Given the description of an element on the screen output the (x, y) to click on. 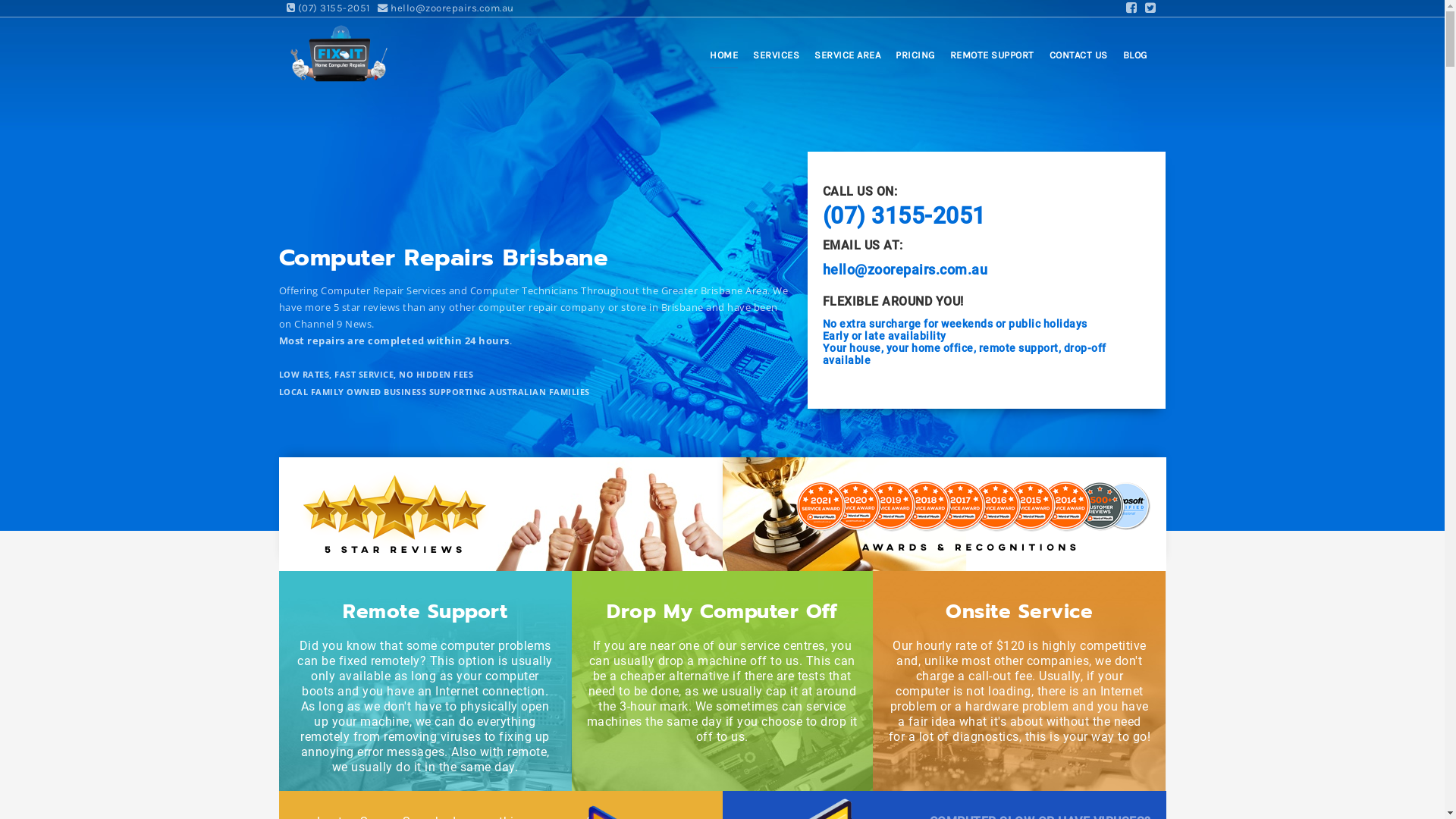
BLOG Element type: text (1134, 57)
CONTACT US Element type: text (1078, 57)
REMOTE SUPPORT Element type: text (991, 57)
SERVICES Element type: text (776, 57)
HOME Element type: text (723, 57)
PRICING Element type: text (915, 57)
Fix My Home Computer Element type: hover (338, 51)
SERVICE AREA Element type: text (847, 57)
